Given the description of an element on the screen output the (x, y) to click on. 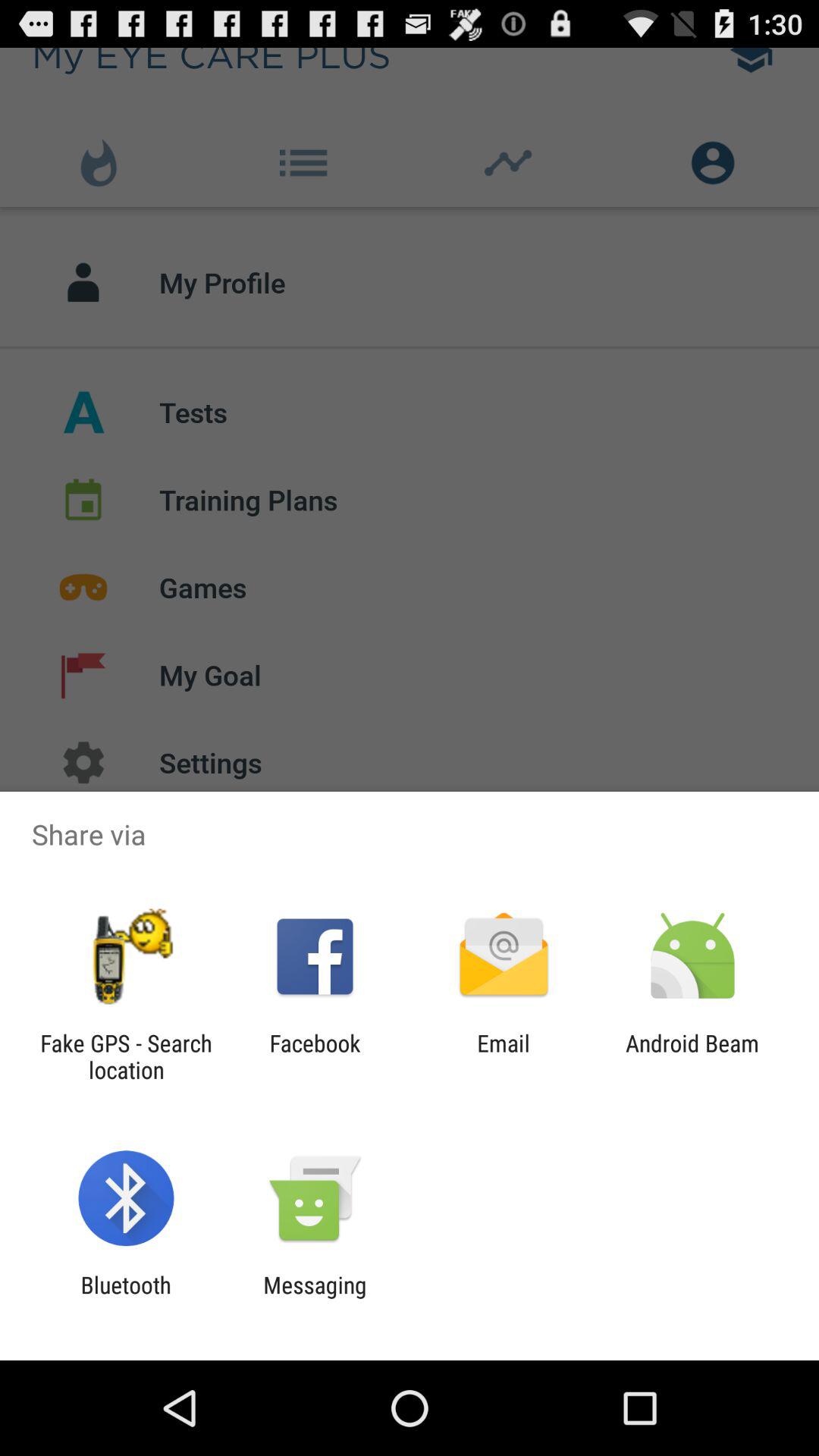
swipe until android beam (692, 1056)
